Given the description of an element on the screen output the (x, y) to click on. 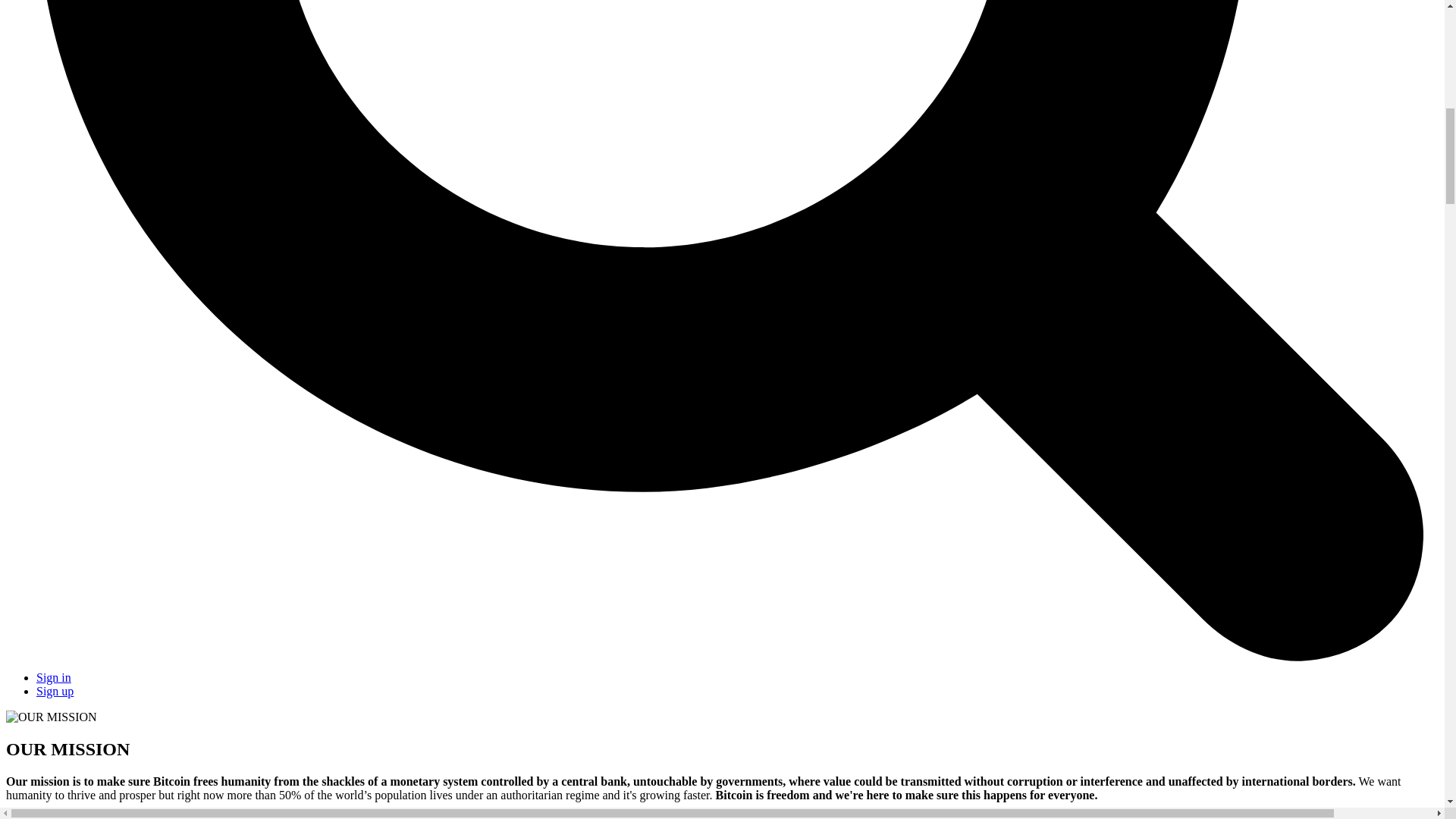
Sign up (55, 690)
Sign in (53, 676)
Satoshi Nakamoto (767, 816)
